Given the description of an element on the screen output the (x, y) to click on. 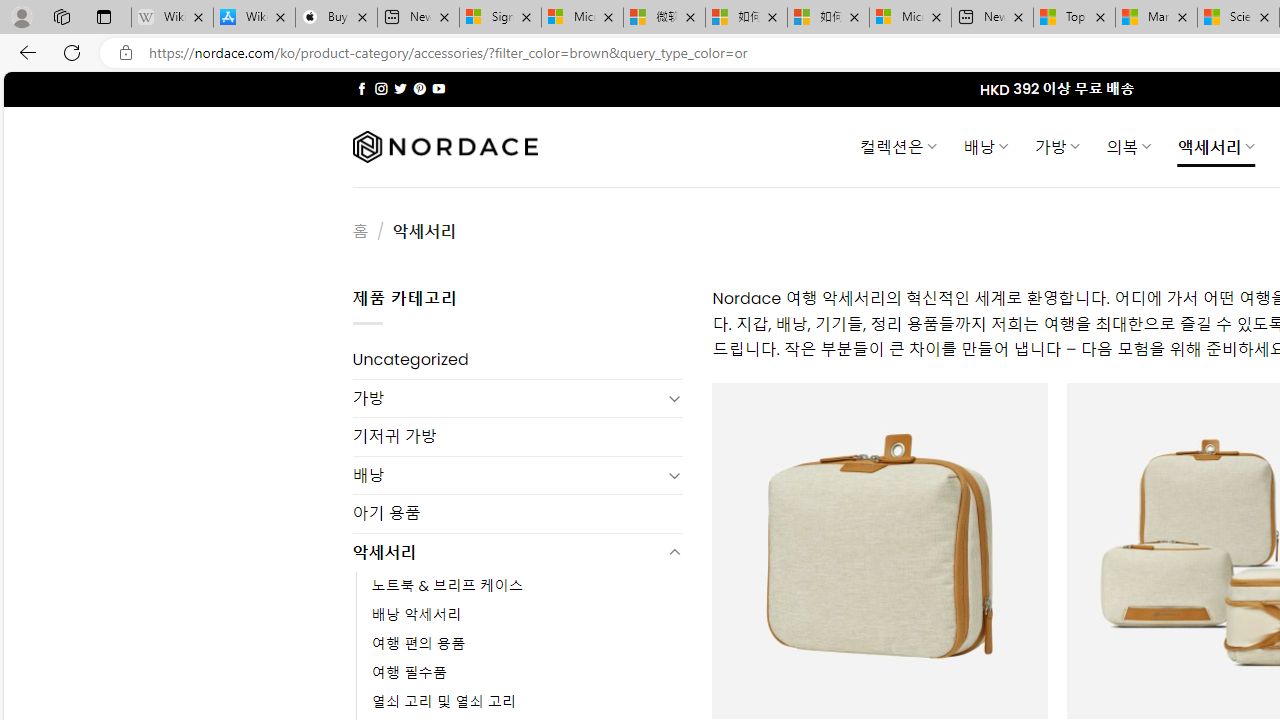
Follow on YouTube (438, 88)
